Given the description of an element on the screen output the (x, y) to click on. 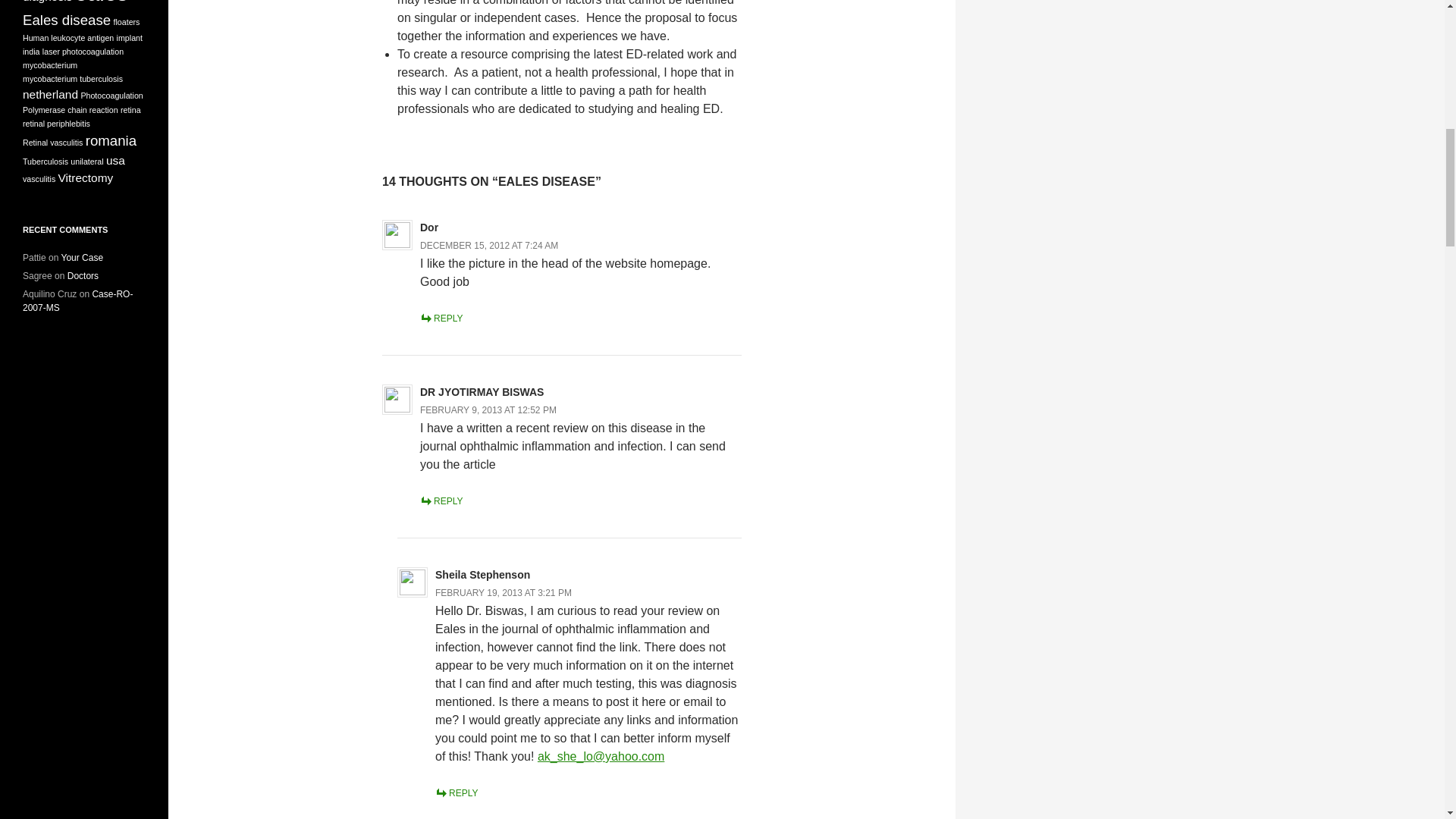
Sheila Stephenson (482, 574)
FEBRUARY 19, 2013 AT 3:21 PM (503, 593)
DECEMBER 15, 2012 AT 7:24 AM (488, 245)
REPLY (441, 317)
FEBRUARY 9, 2013 AT 12:52 PM (488, 409)
REPLY (456, 792)
REPLY (441, 501)
